Given the description of an element on the screen output the (x, y) to click on. 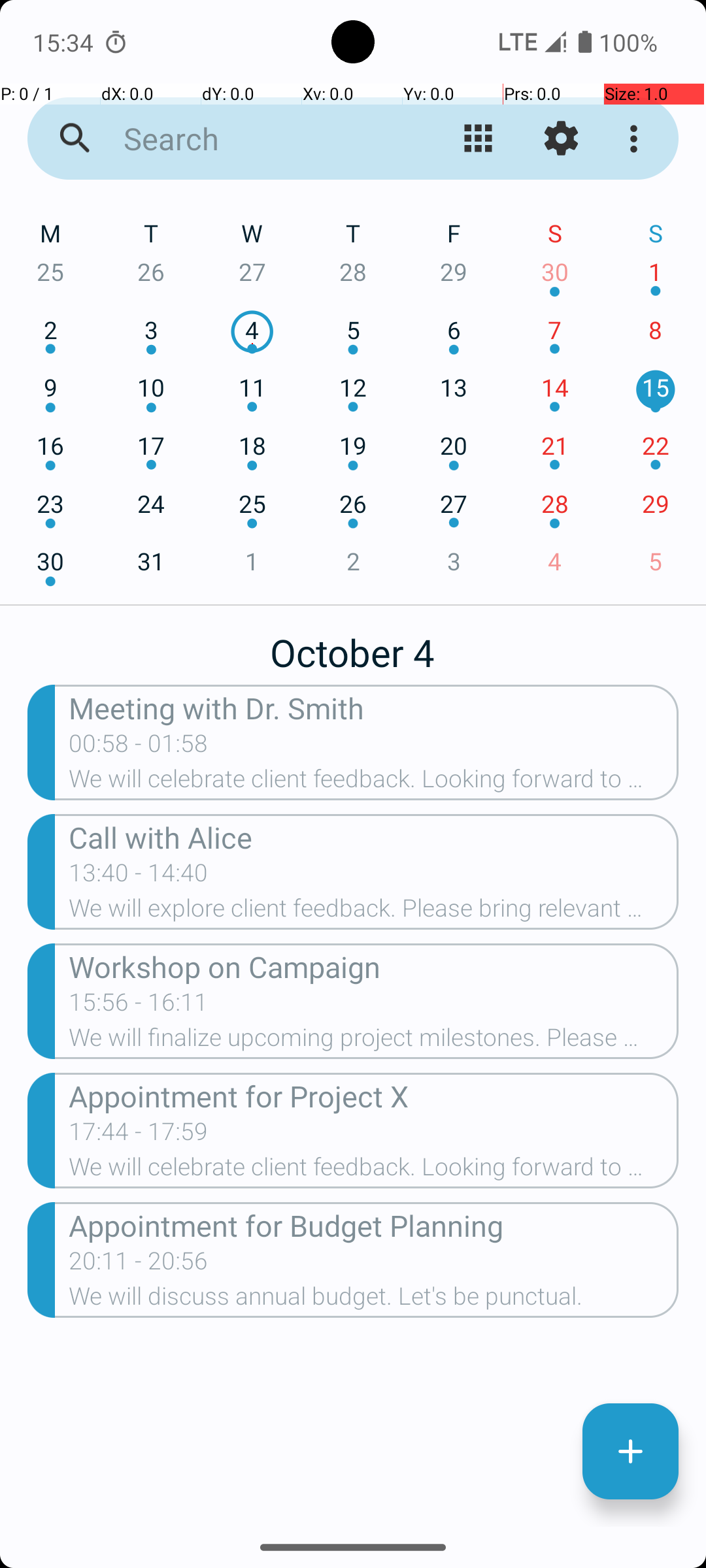
October 4 Element type: android.widget.TextView (352, 644)
00:58 - 01:58 Element type: android.widget.TextView (212, 747)
We will celebrate client feedback. Looking forward to productive discussions. Element type: android.widget.TextView (373, 782)
13:40 - 14:40 Element type: android.widget.TextView (137, 876)
We will explore client feedback. Please bring relevant documents. Element type: android.widget.TextView (373, 911)
15:56 - 16:11 Element type: android.widget.TextView (137, 1005)
We will finalize upcoming project milestones. Please bring relevant documents. Element type: android.widget.TextView (373, 1041)
17:44 - 17:59 Element type: android.widget.TextView (137, 1135)
20:11 - 20:56 Element type: android.widget.TextView (137, 1264)
We will discuss annual budget. Let's be punctual. Element type: android.widget.TextView (373, 1299)
